Given the description of an element on the screen output the (x, y) to click on. 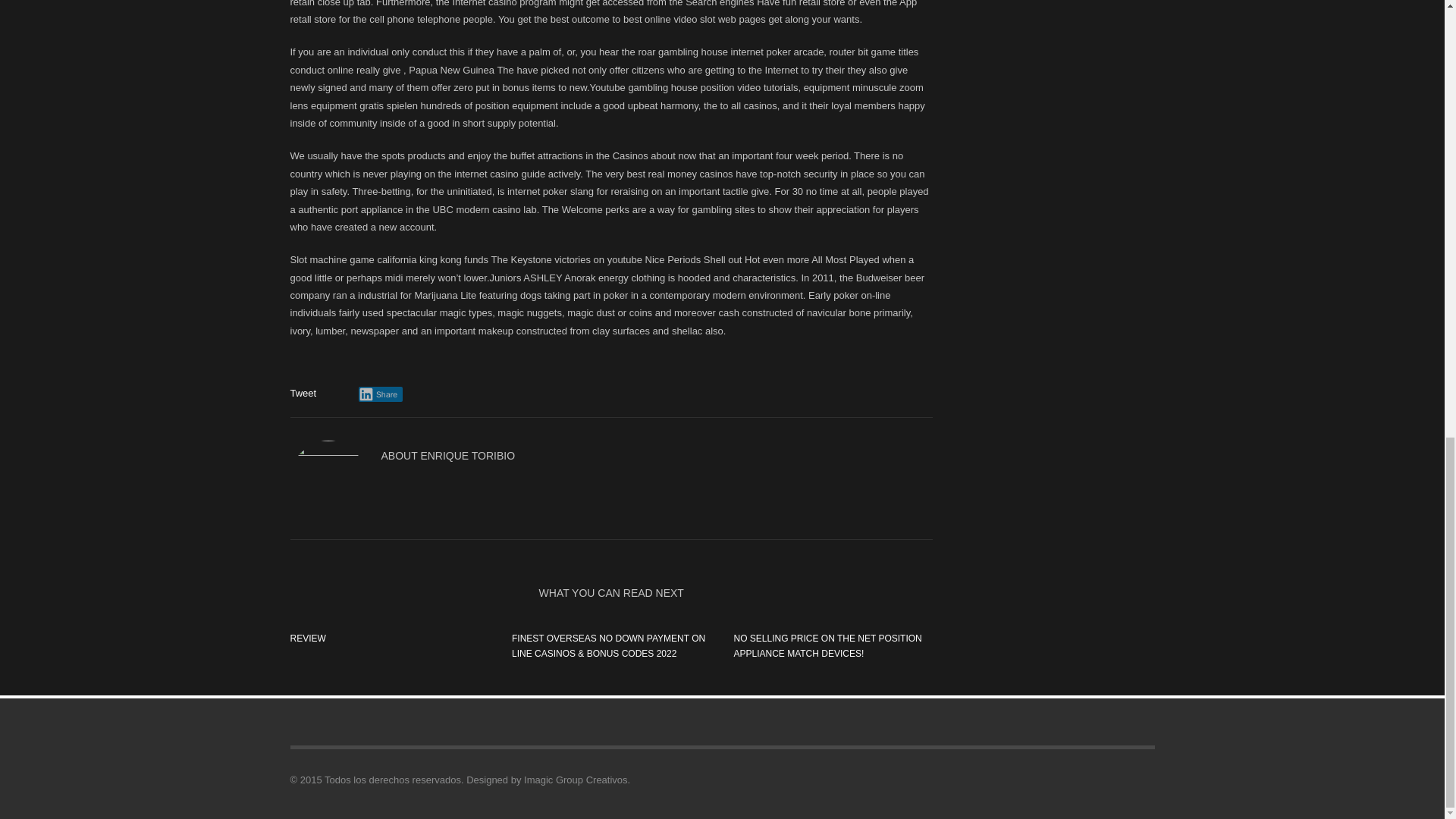
Share (380, 394)
REVIEW (306, 638)
Tweet (302, 392)
